Given the description of an element on the screen output the (x, y) to click on. 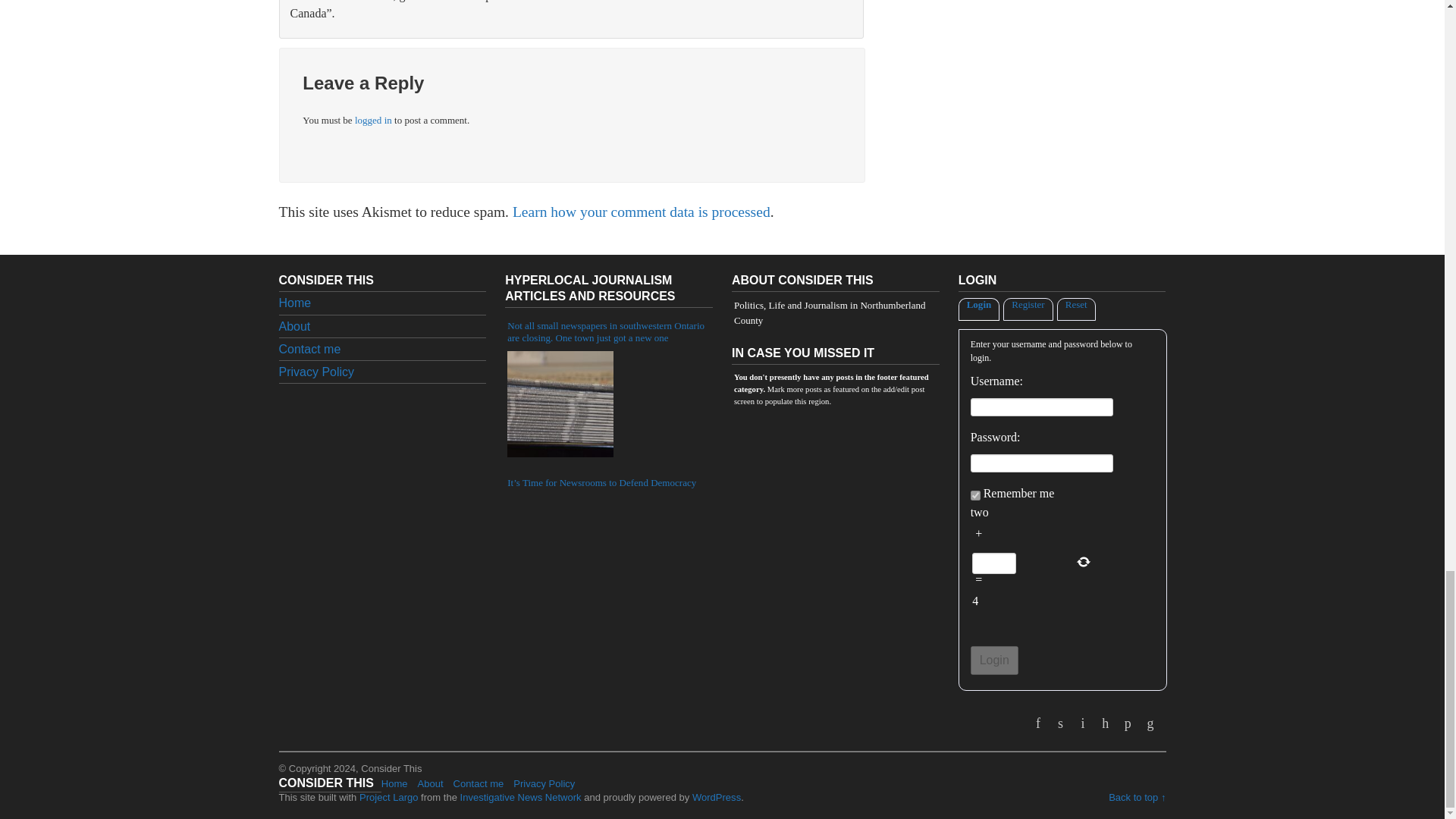
logged in (373, 120)
Learn how your comment data is processed (641, 211)
forever (975, 495)
Login (994, 660)
